Given the description of an element on the screen output the (x, y) to click on. 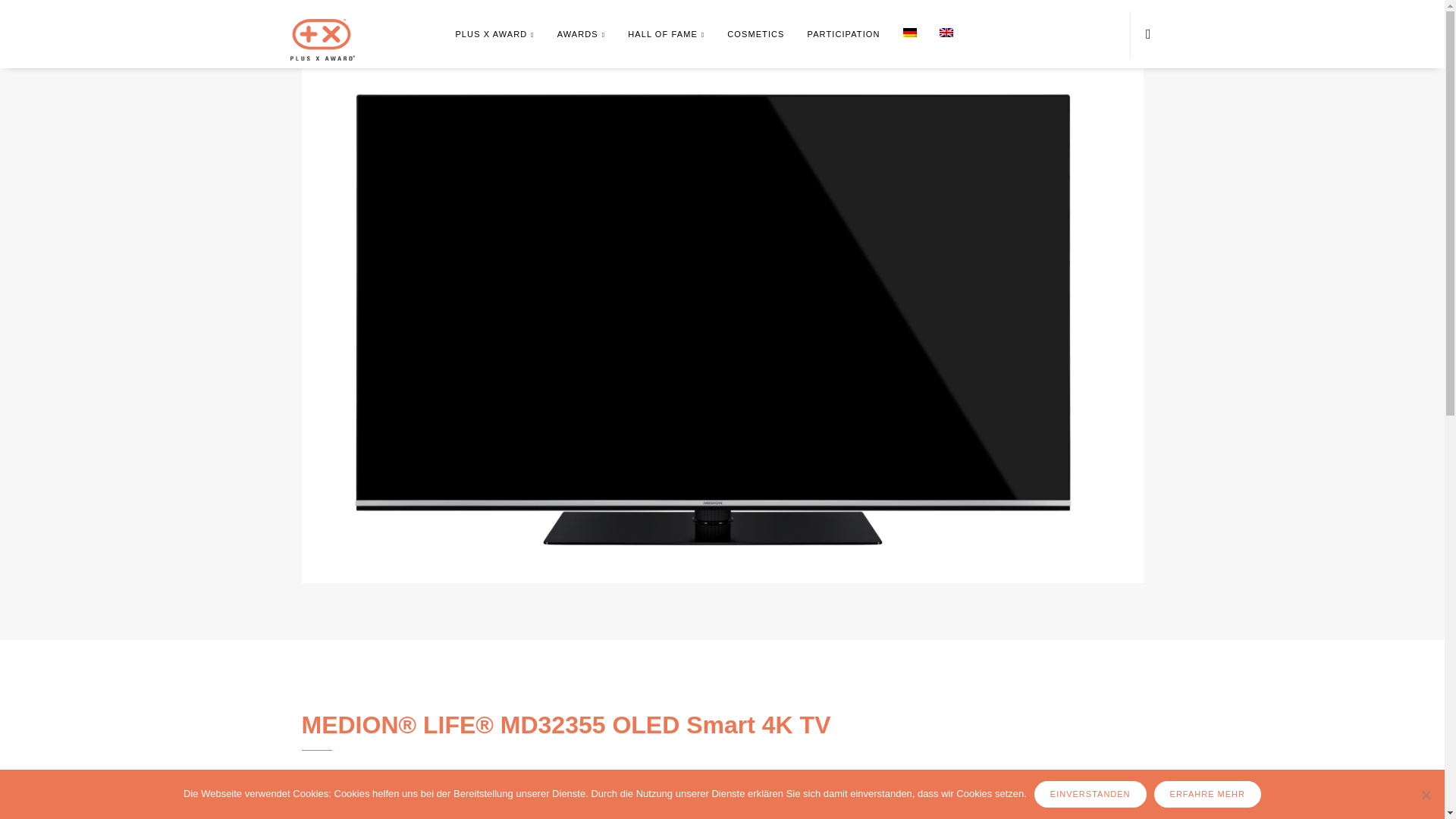
HALL OF FAME (665, 34)
COSMETICS (755, 34)
PARTICIPATION (843, 34)
PLUS X AWARD (494, 34)
Nein (1425, 794)
AWARDS (580, 34)
